Given the description of an element on the screen output the (x, y) to click on. 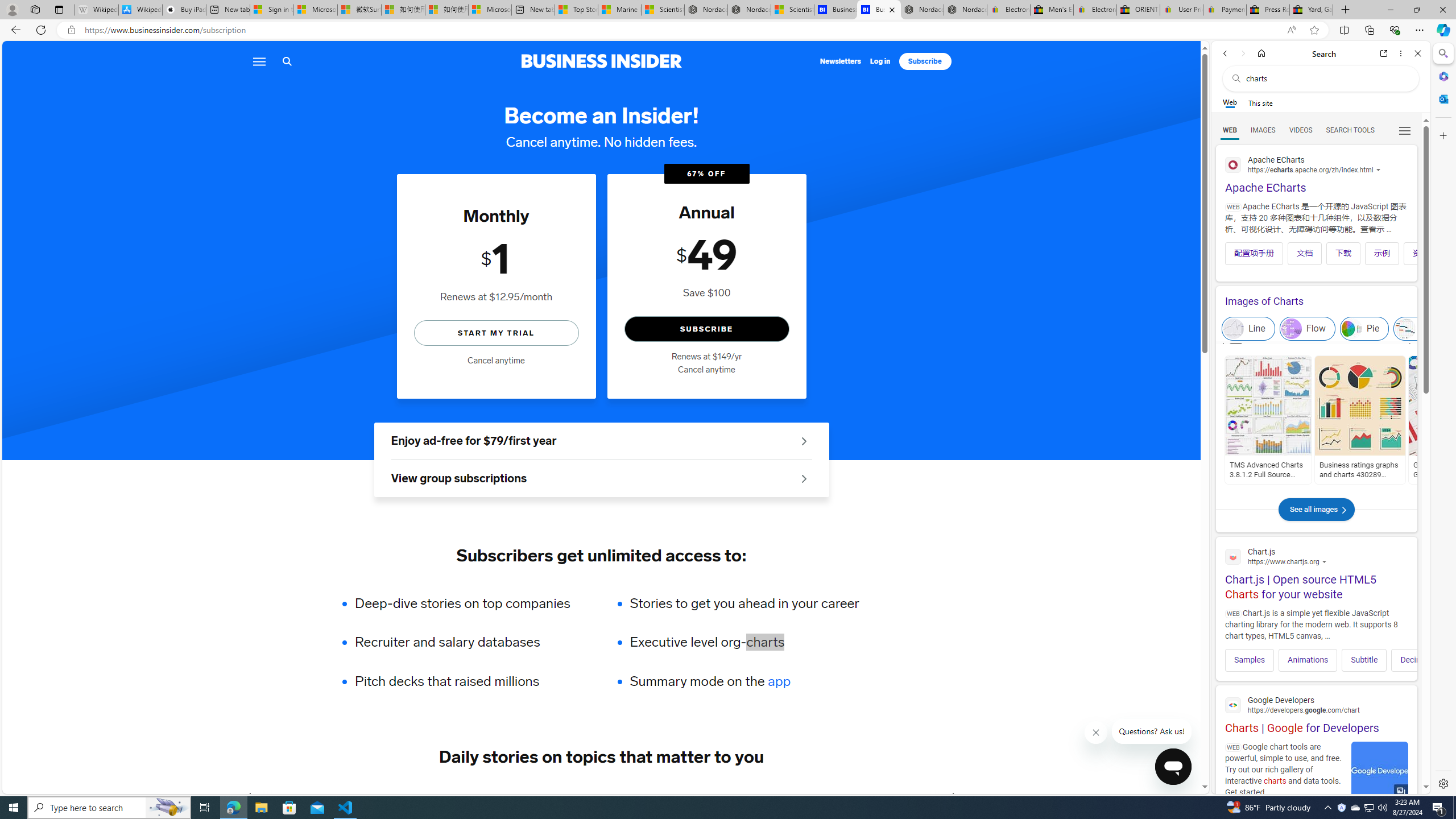
Open messaging window (1172, 766)
Class: blkchevsvg (1342, 509)
Electronics, Cars, Fashion, Collectibles & More | eBay (1094, 9)
Search the web (1326, 78)
Gantt (1423, 328)
Menu icon (257, 61)
Business Insider logo (601, 60)
